Given the description of an element on the screen output the (x, y) to click on. 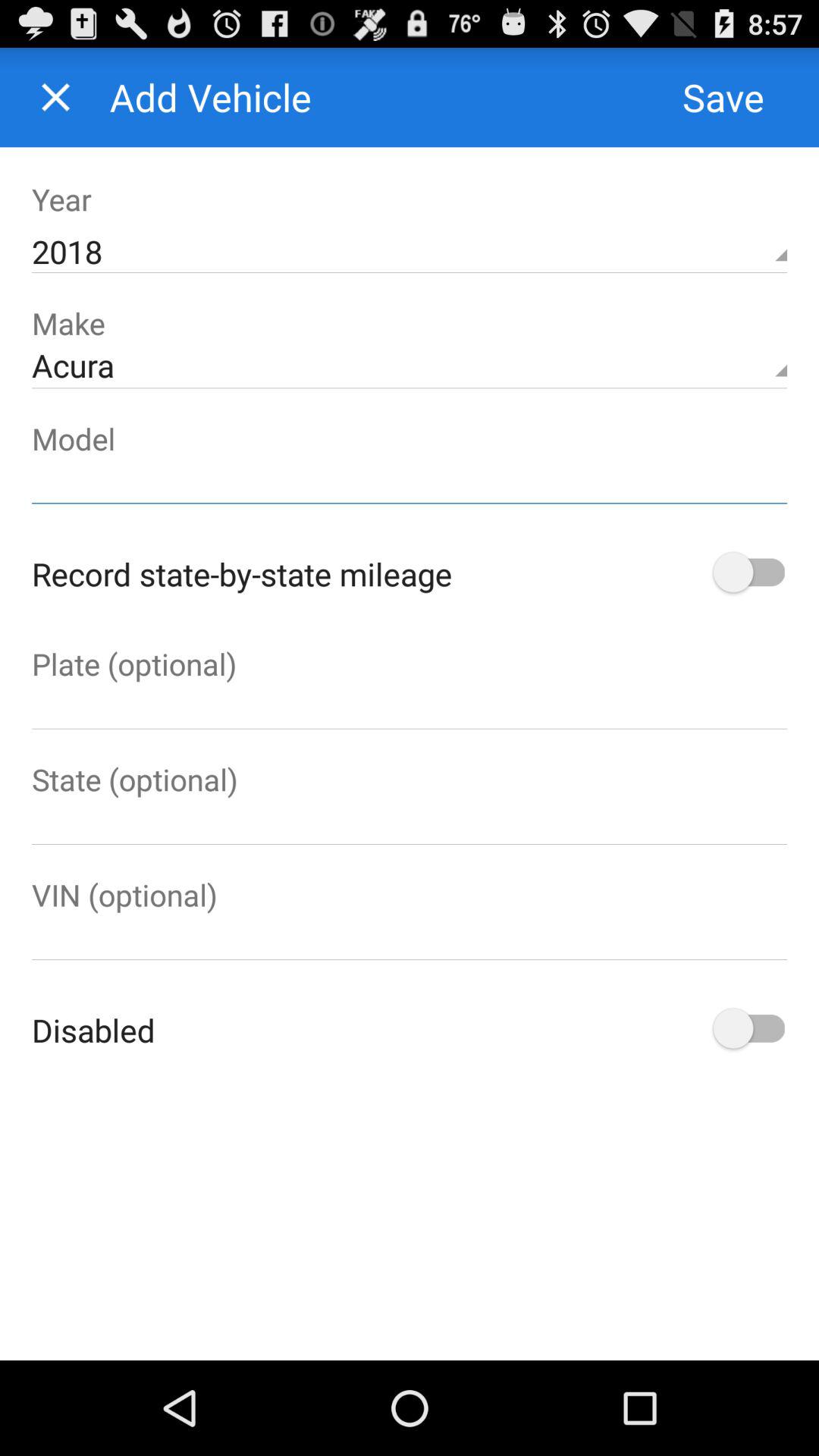
close add vehicle (55, 97)
